Given the description of an element on the screen output the (x, y) to click on. 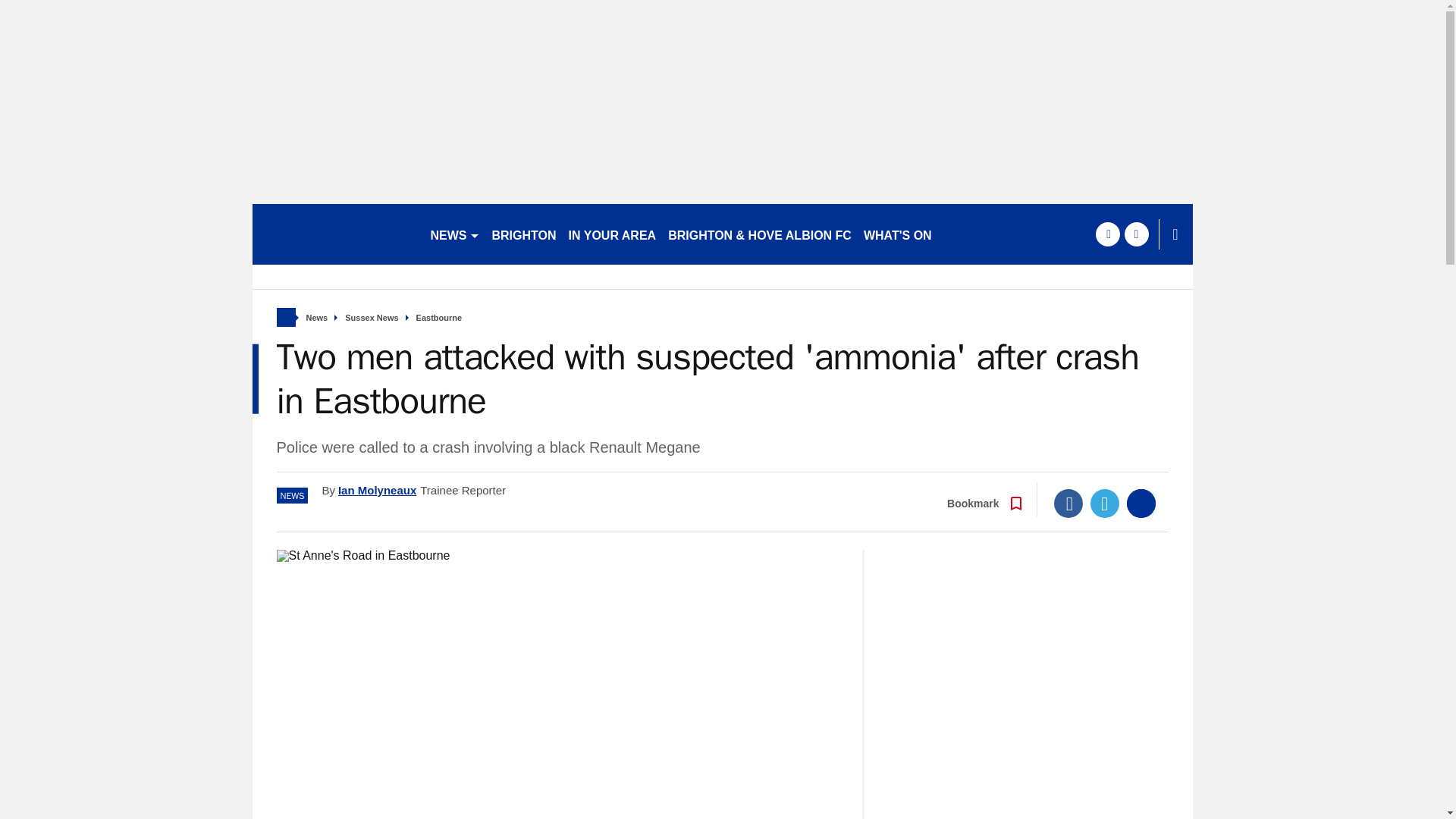
IN YOUR AREA (612, 233)
facebook (1106, 233)
BRIGHTON (523, 233)
sussexlive (333, 233)
WHAT'S ON (897, 233)
NEWS (455, 233)
twitter (1136, 233)
Twitter (1104, 502)
Facebook (1068, 502)
